Given the description of an element on the screen output the (x, y) to click on. 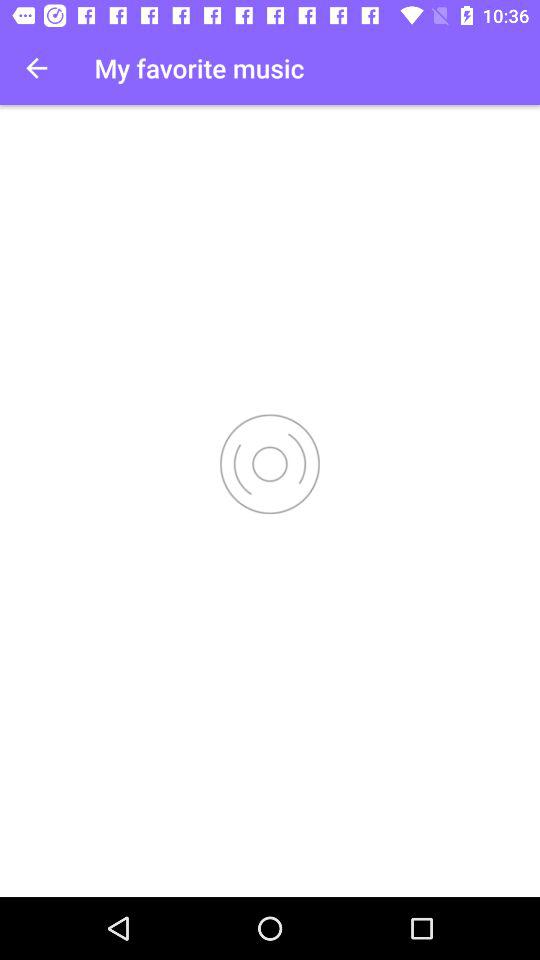
tap item at the top left corner (36, 68)
